Given the description of an element on the screen output the (x, y) to click on. 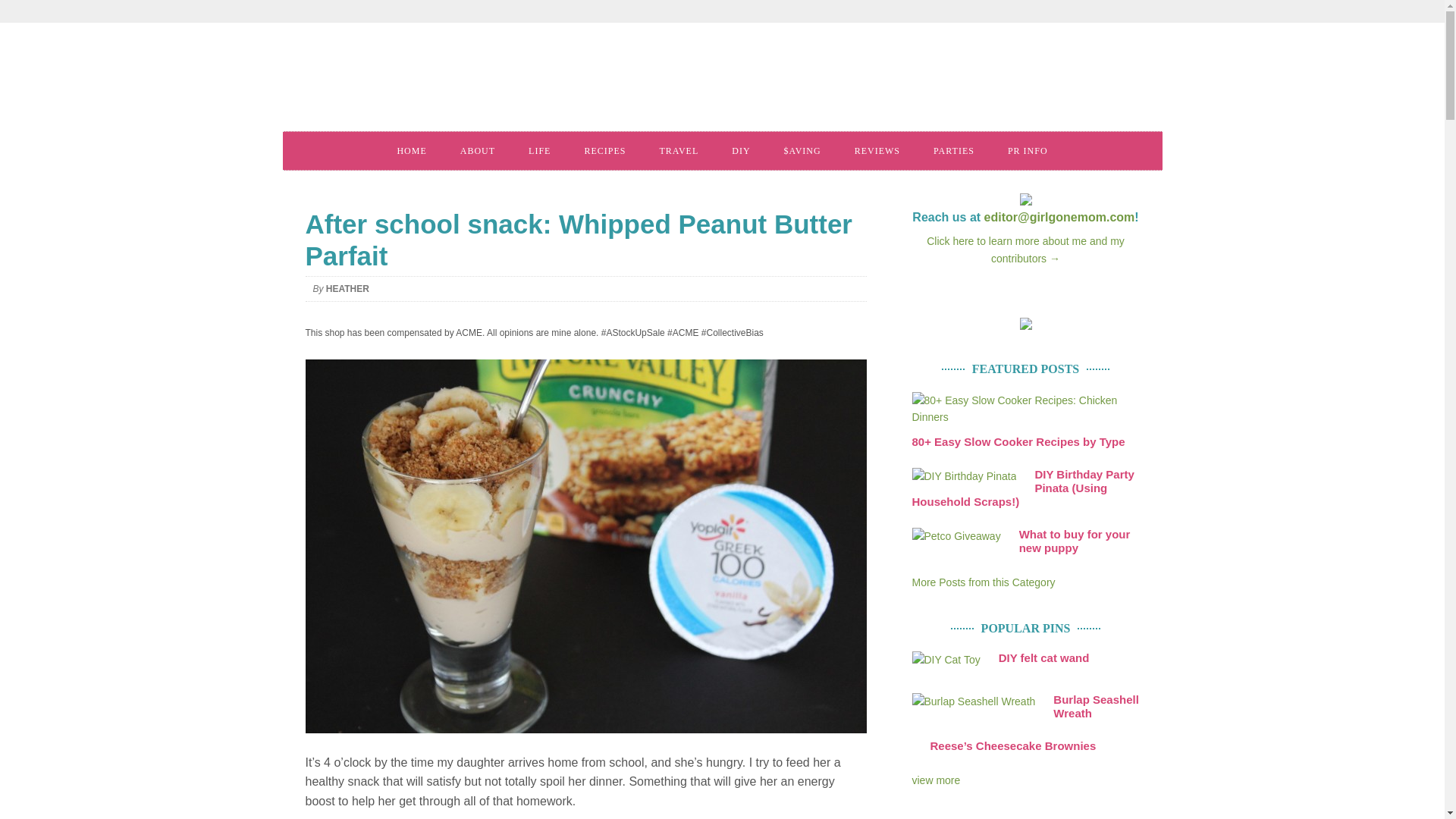
TRAVEL (678, 150)
In Season (982, 582)
DIY (740, 150)
Pin It (935, 779)
LIFE (539, 150)
RECIPES (604, 150)
Girl Gone Mom (509, 82)
HOME (411, 150)
ABOUT (478, 150)
